Given the description of an element on the screen output the (x, y) to click on. 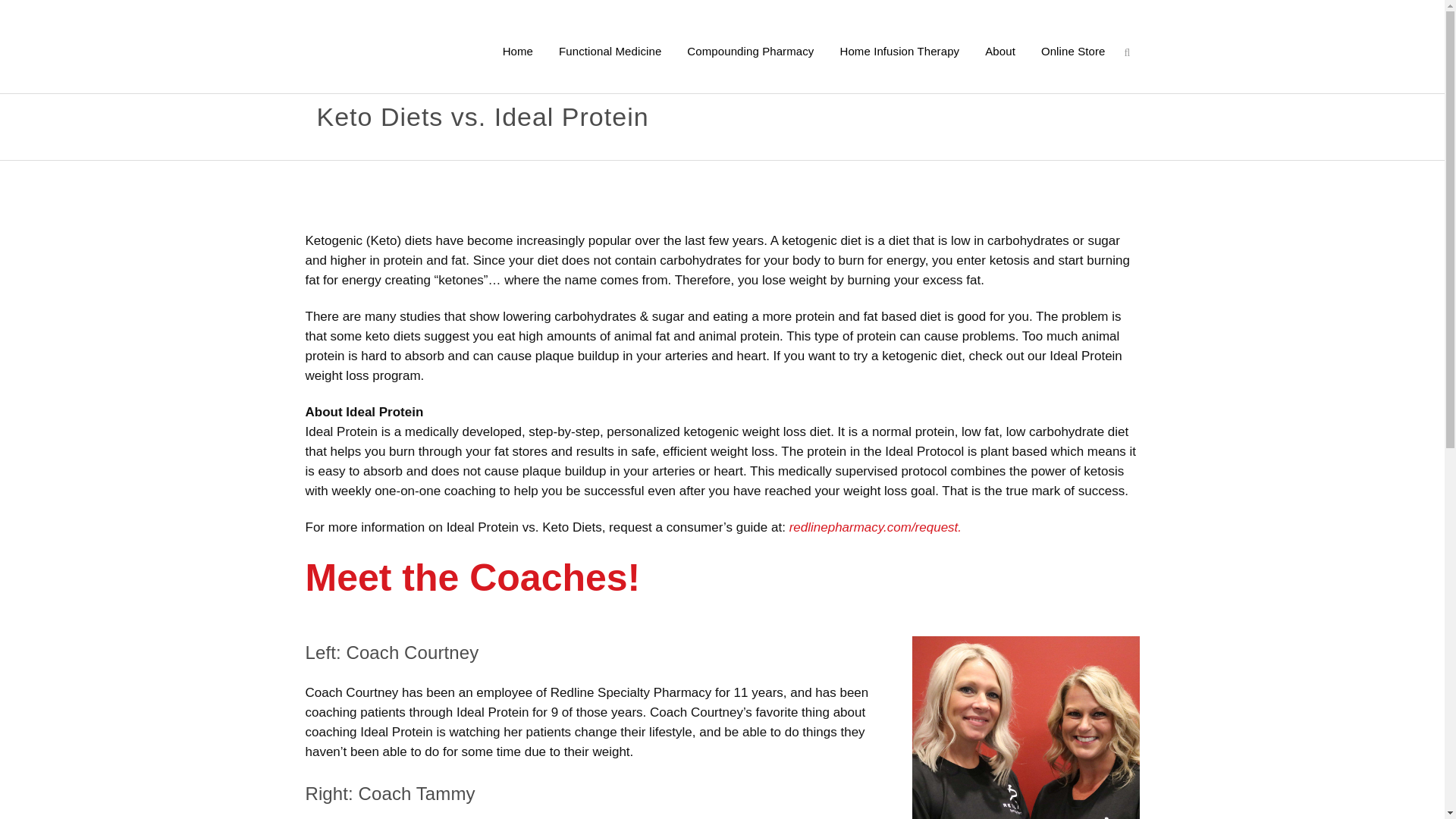
Online Store (1072, 51)
Compounding Pharmacy (750, 51)
Home Infusion Therapy (899, 51)
Functional Medicine (610, 51)
